Given the description of an element on the screen output the (x, y) to click on. 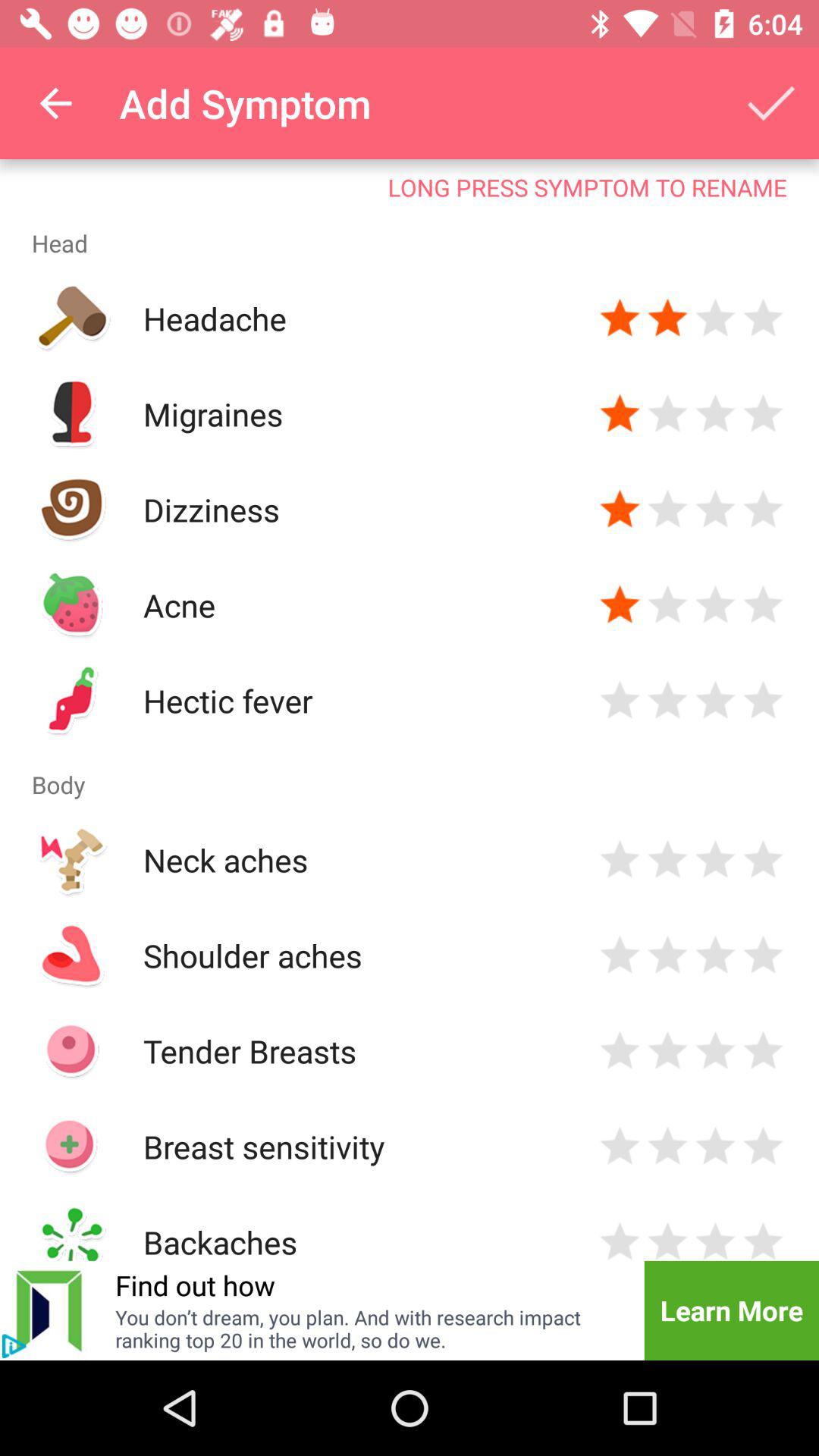
give a three stars rating (715, 955)
